Given the description of an element on the screen output the (x, y) to click on. 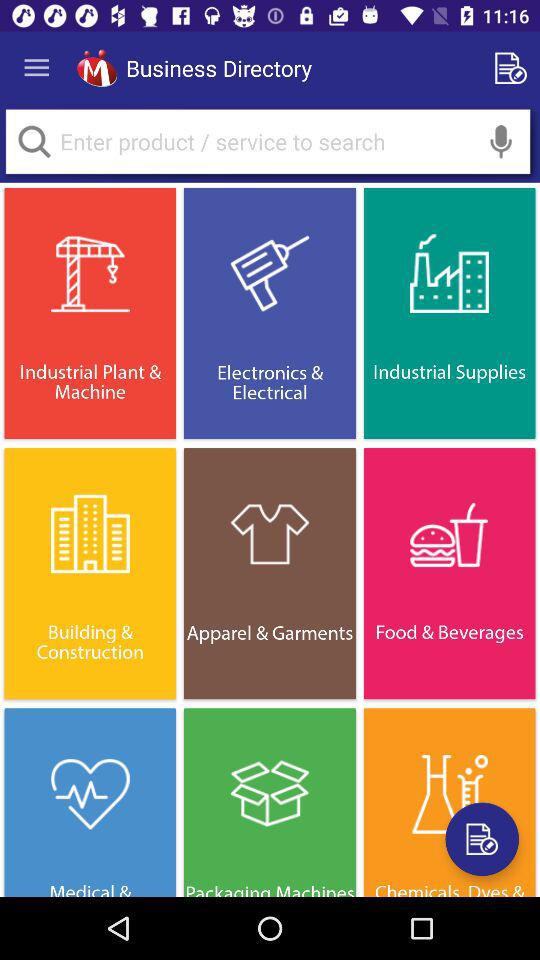
click the icon to the left of the business directory app (96, 67)
